Given the description of an element on the screen output the (x, y) to click on. 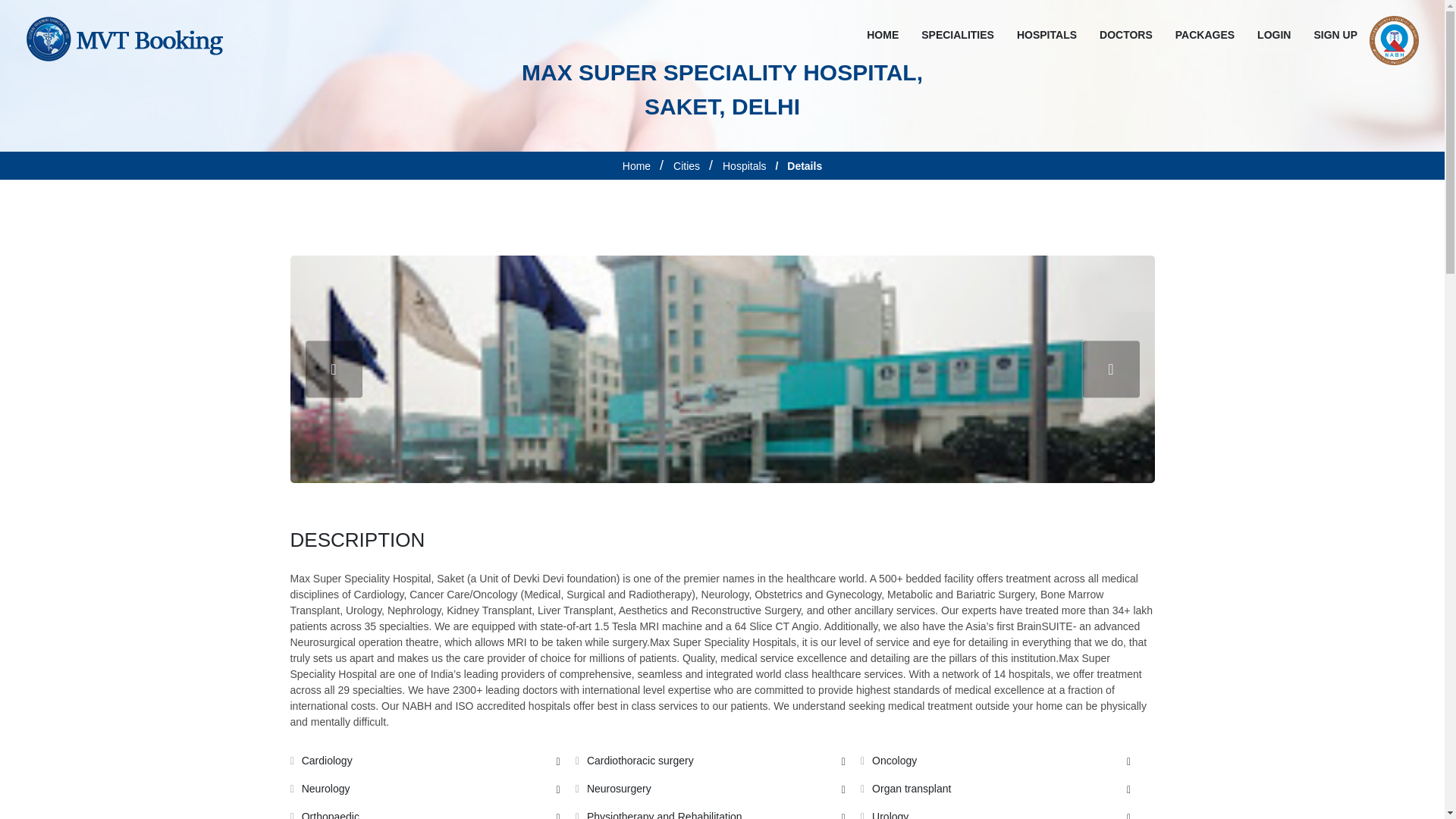
Cities (686, 166)
Hospitals (744, 166)
Oncology (1001, 760)
Orthopaedic (430, 814)
Neurosurgery (1136, 35)
Physiotherapy and Rehabilitation (715, 788)
SPECIALITIES (715, 814)
Home (957, 35)
Organ transplant (636, 166)
Cardiology (1001, 788)
Neurology (430, 760)
Urology (430, 788)
Cardiothoracic surgery (1001, 814)
